Given the description of an element on the screen output the (x, y) to click on. 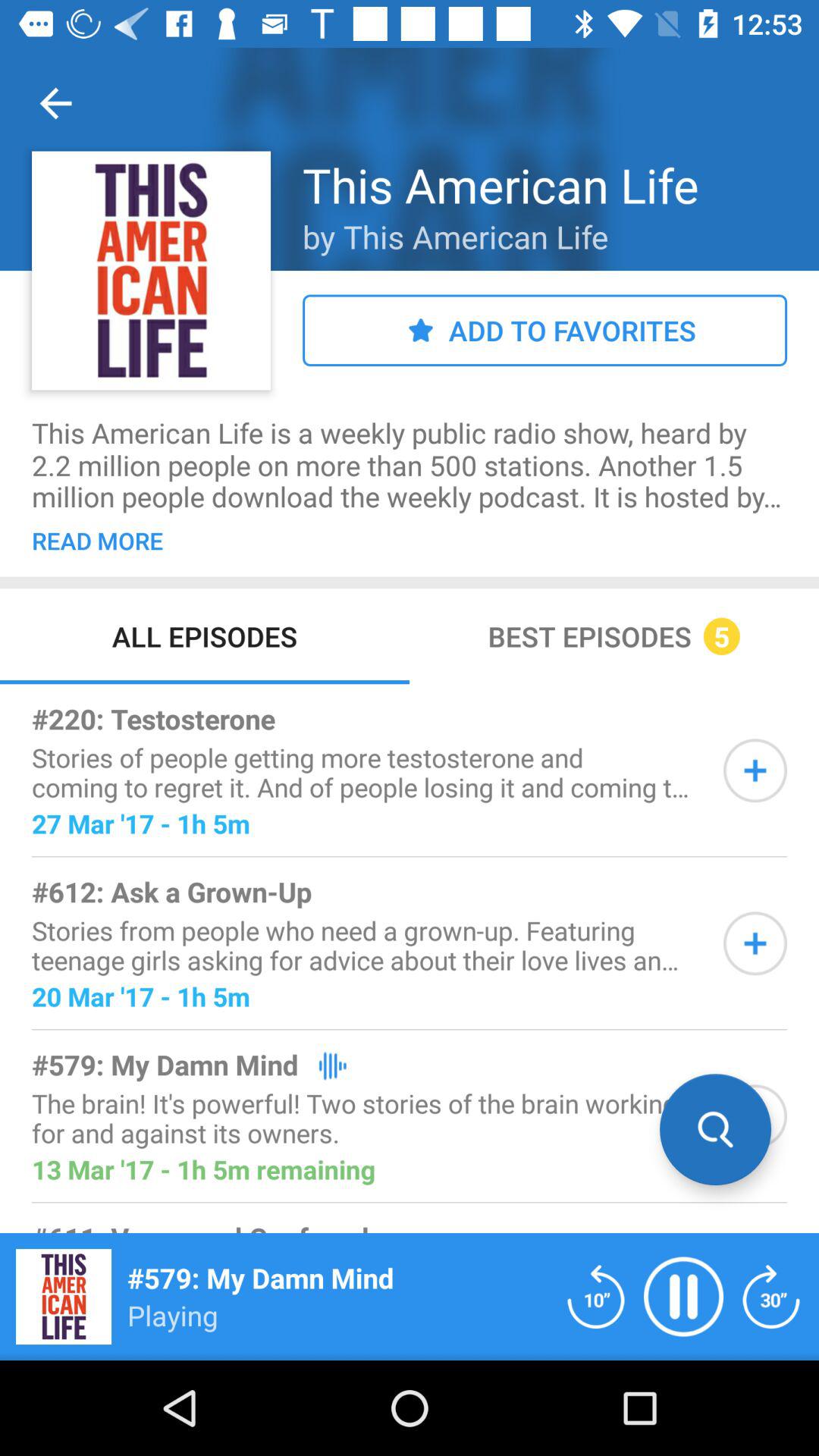
show more (755, 770)
